Given the description of an element on the screen output the (x, y) to click on. 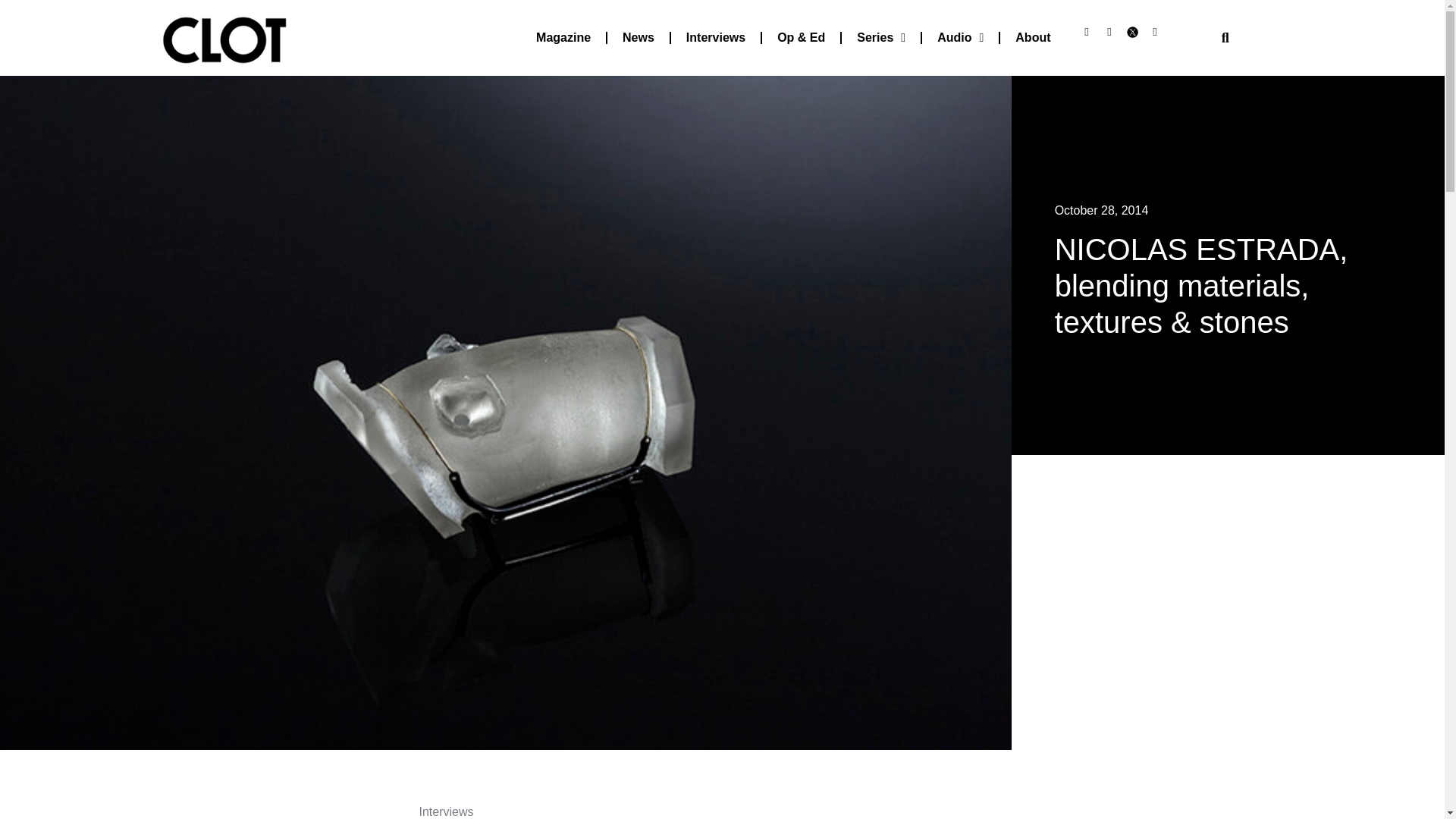
Interviews (715, 37)
Series (880, 37)
Magazine (563, 37)
About (1032, 37)
Audio (959, 37)
News (638, 37)
